Given the description of an element on the screen output the (x, y) to click on. 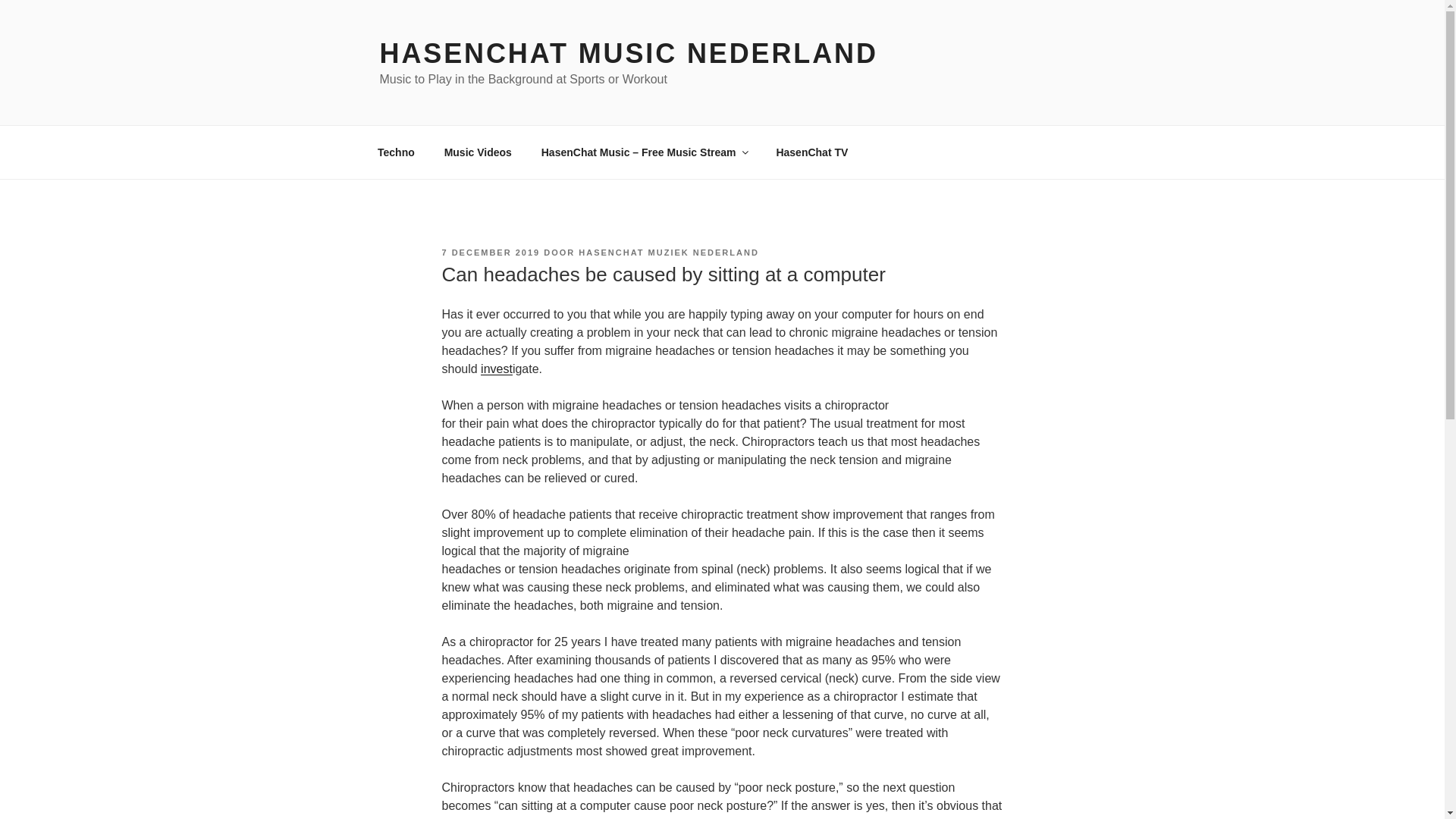
HasenChat TV (811, 151)
Music Videos (477, 151)
Techno (396, 151)
HASENCHAT MUZIEK NEDERLAND (668, 252)
HASENCHAT MUSIC NEDERLAND (627, 52)
invest (496, 368)
7 DECEMBER 2019 (490, 252)
